Given the description of an element on the screen output the (x, y) to click on. 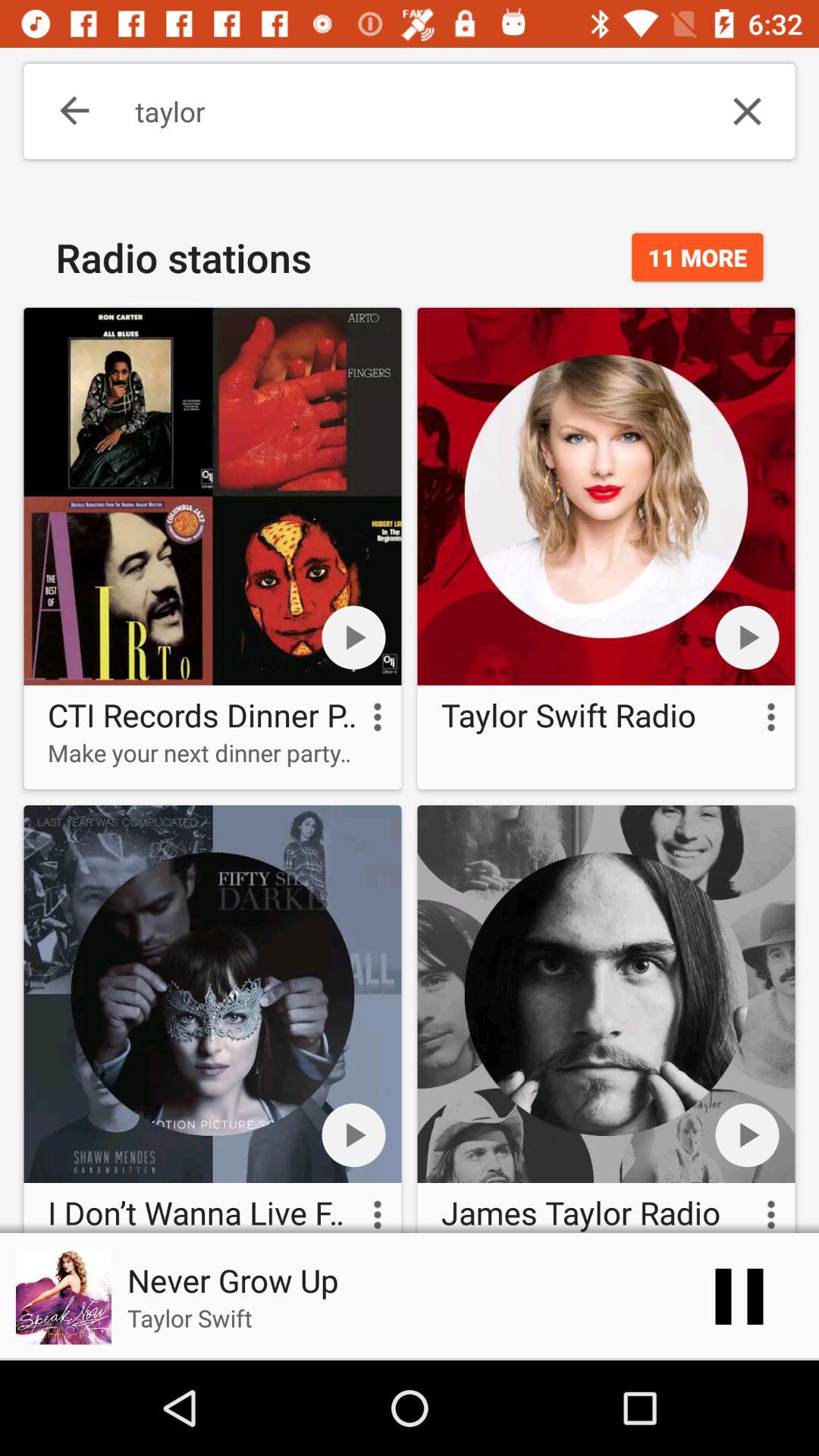
select the item next to the radio stations item (697, 257)
